Given the description of an element on the screen output the (x, y) to click on. 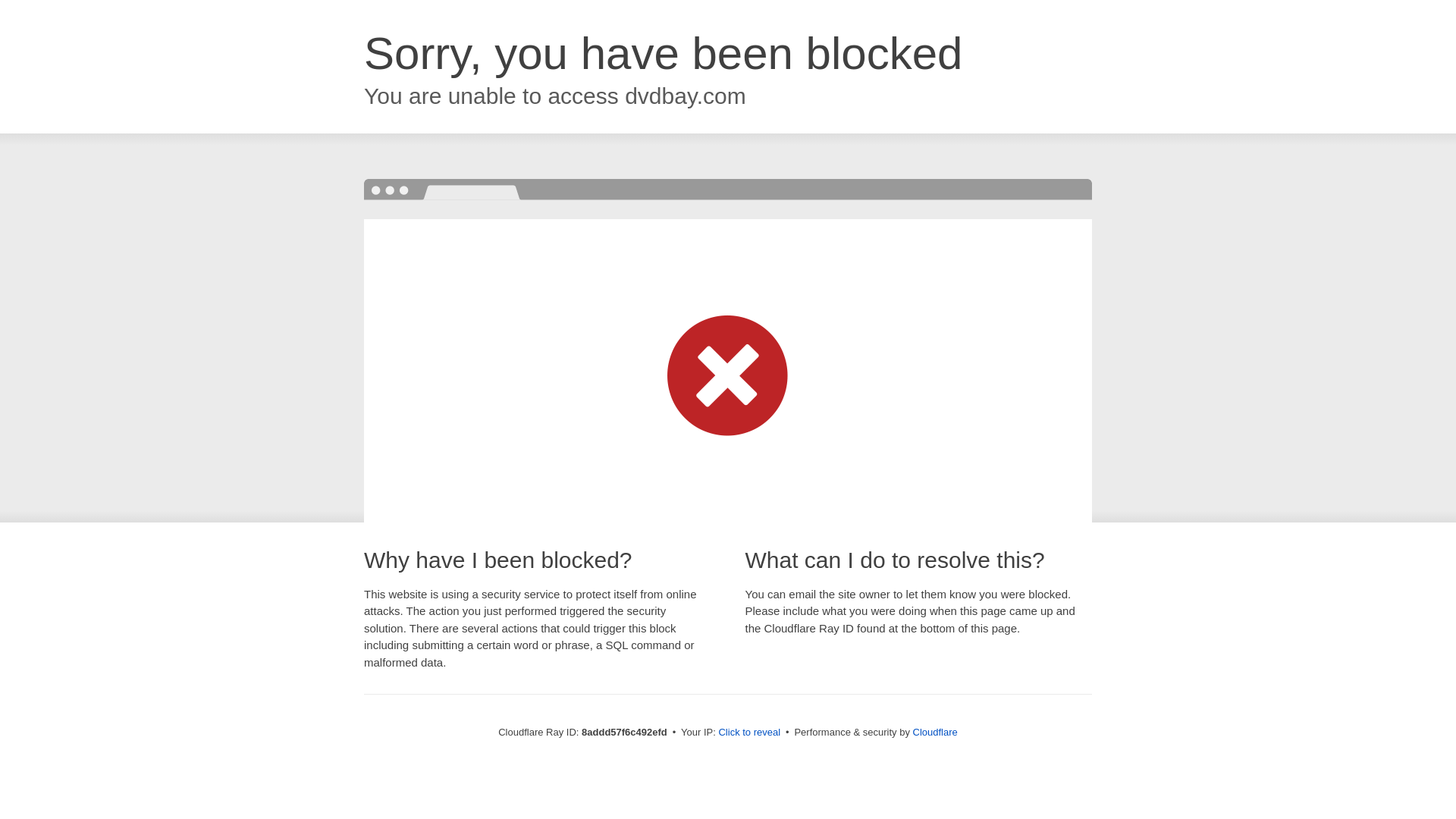
Click to reveal (748, 732)
Cloudflare (935, 731)
